Given the description of an element on the screen output the (x, y) to click on. 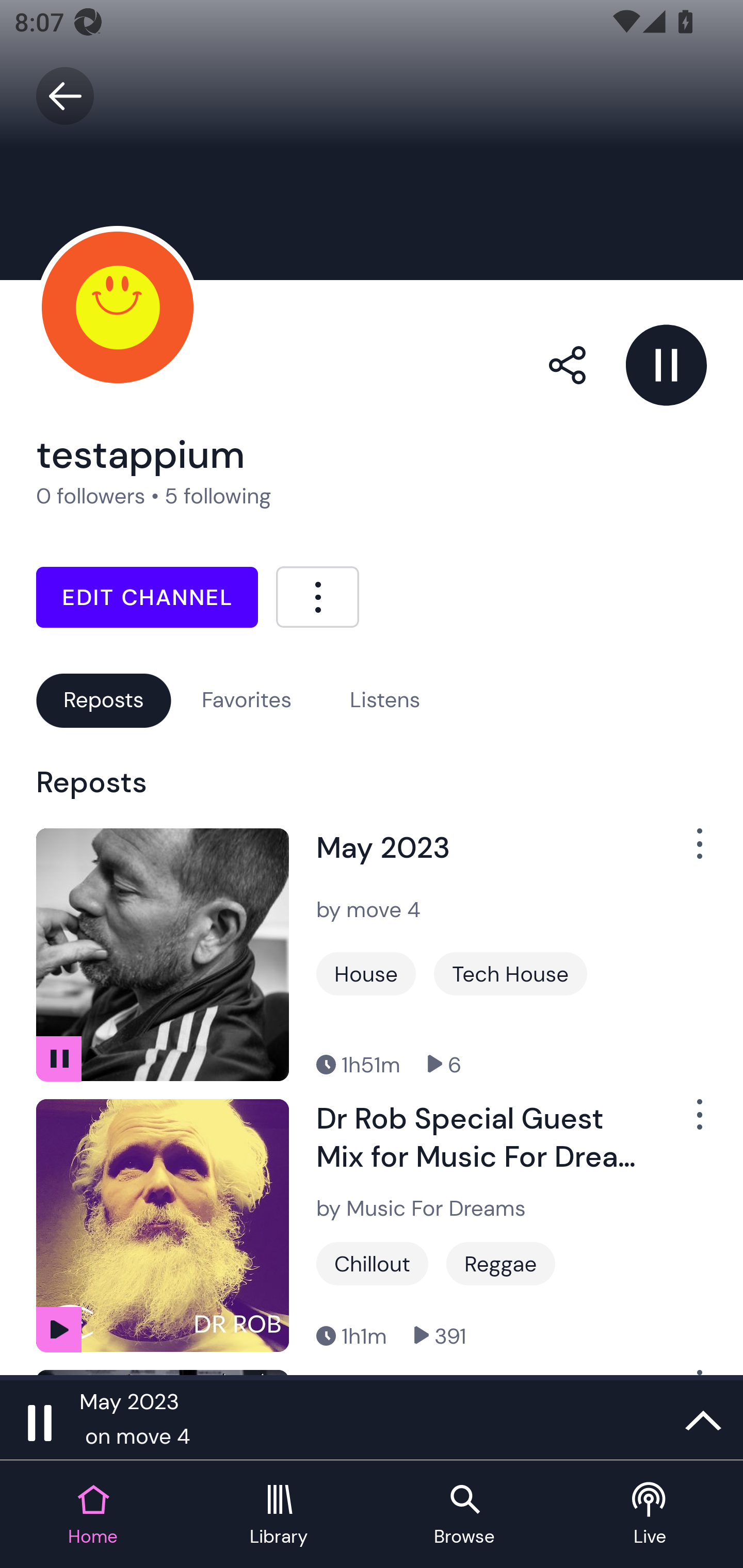
0 followers (90, 495)
5 following (217, 495)
More Menu (317, 596)
Edit Channel EDIT CHANNEL (146, 597)
Reposts (103, 699)
Favorites (246, 699)
Listens (384, 699)
Show Options Menu Button (688, 850)
House (366, 973)
Tech House (509, 973)
Show Options Menu Button (688, 1122)
Chillout (371, 1263)
Reggae (500, 1263)
Home tab Home (92, 1515)
Library tab Library (278, 1515)
Browse tab Browse (464, 1515)
Live tab Live (650, 1515)
